Given the description of an element on the screen output the (x, y) to click on. 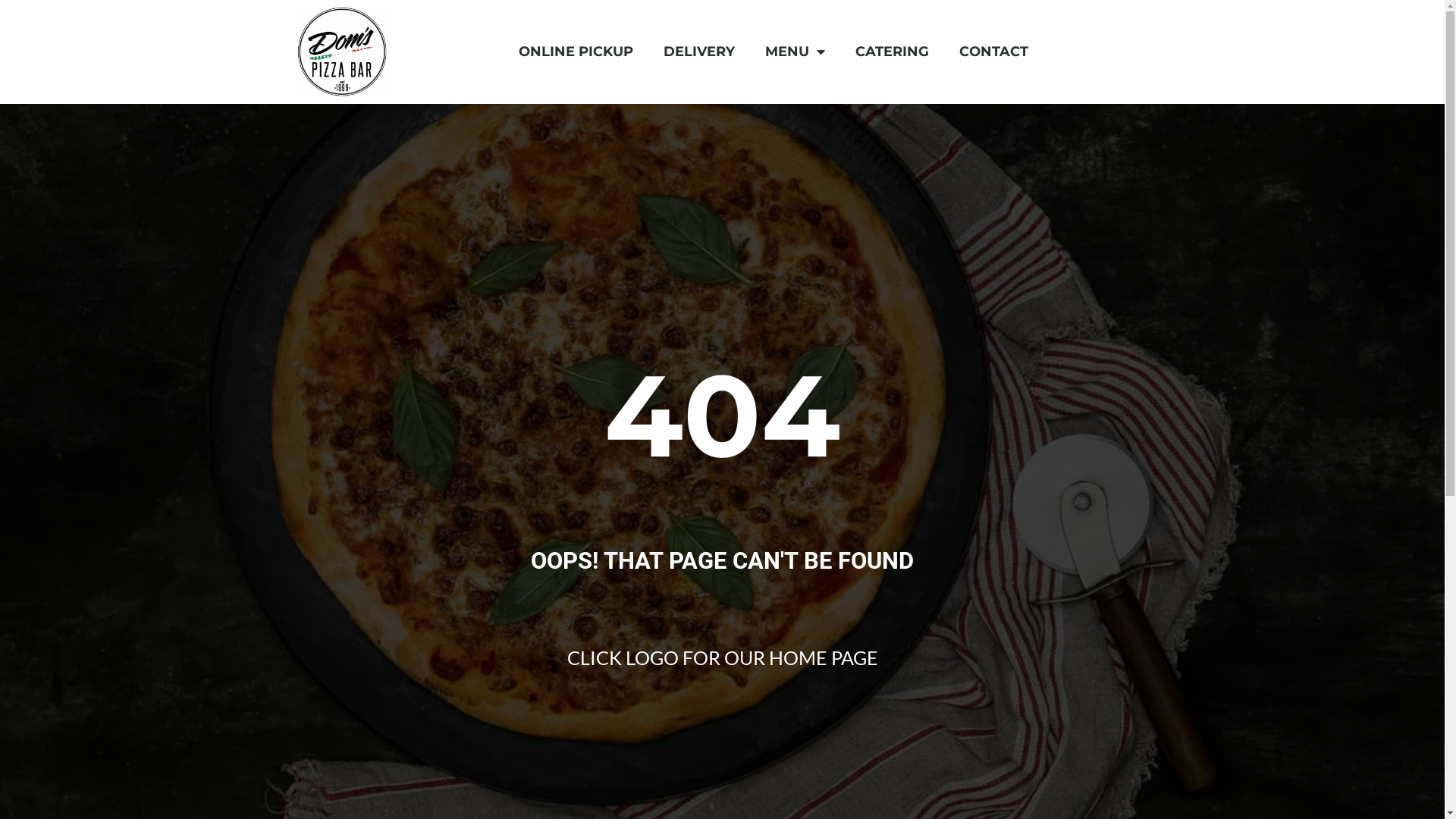
CATERING Element type: text (892, 51)
ONLINE PICKUP Element type: text (575, 51)
CONTACT Element type: text (993, 51)
MENU Element type: text (794, 51)
DELIVERY Element type: text (698, 51)
